Given the description of an element on the screen output the (x, y) to click on. 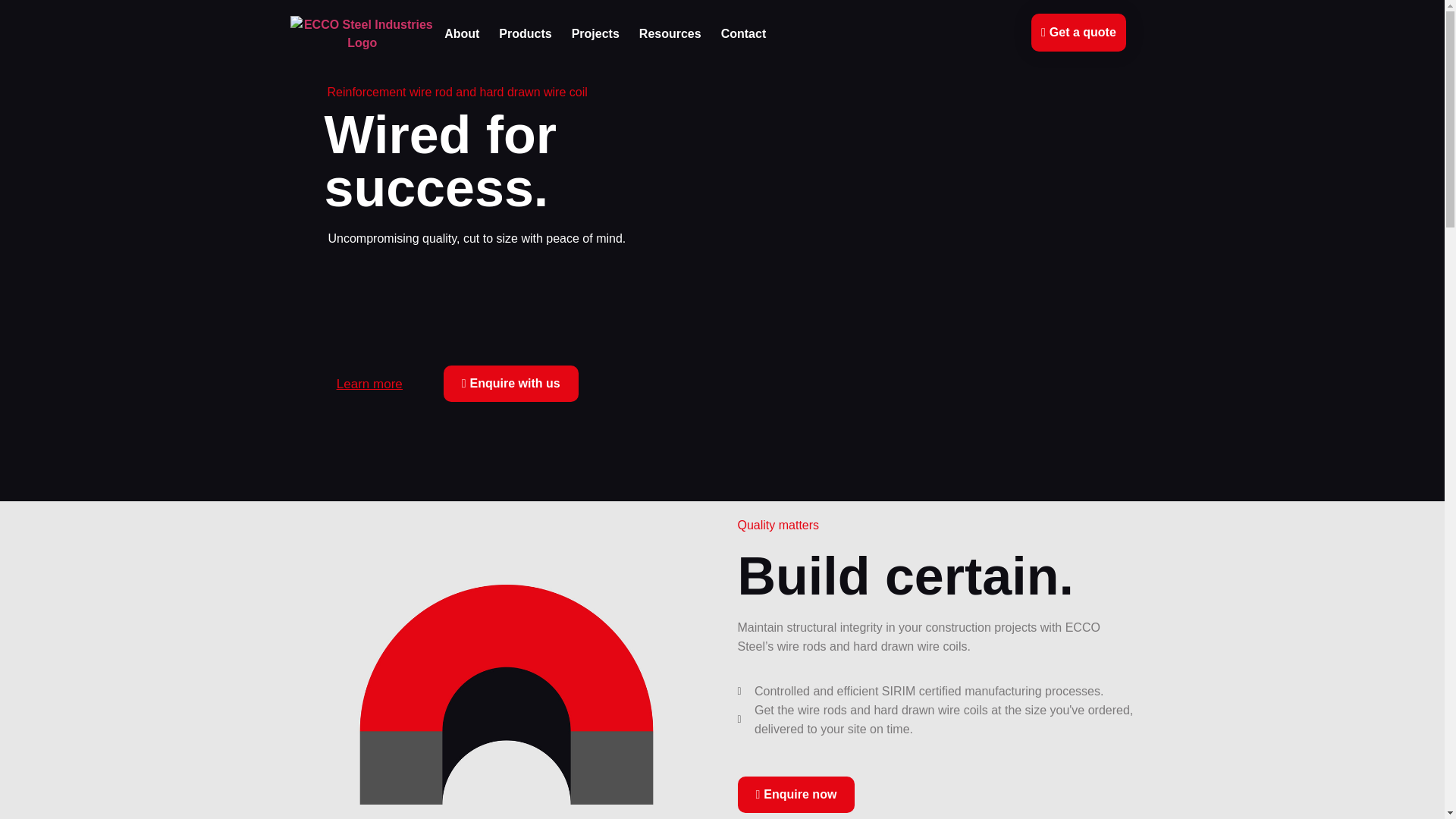
Projects (595, 34)
Learn more (369, 384)
Products (524, 34)
Enquire with us (511, 383)
ECCO Steel Industries Logo (361, 33)
Get a quote (1077, 32)
Contact (743, 34)
Enquire now (795, 794)
About (461, 34)
Resources (669, 34)
